Given the description of an element on the screen output the (x, y) to click on. 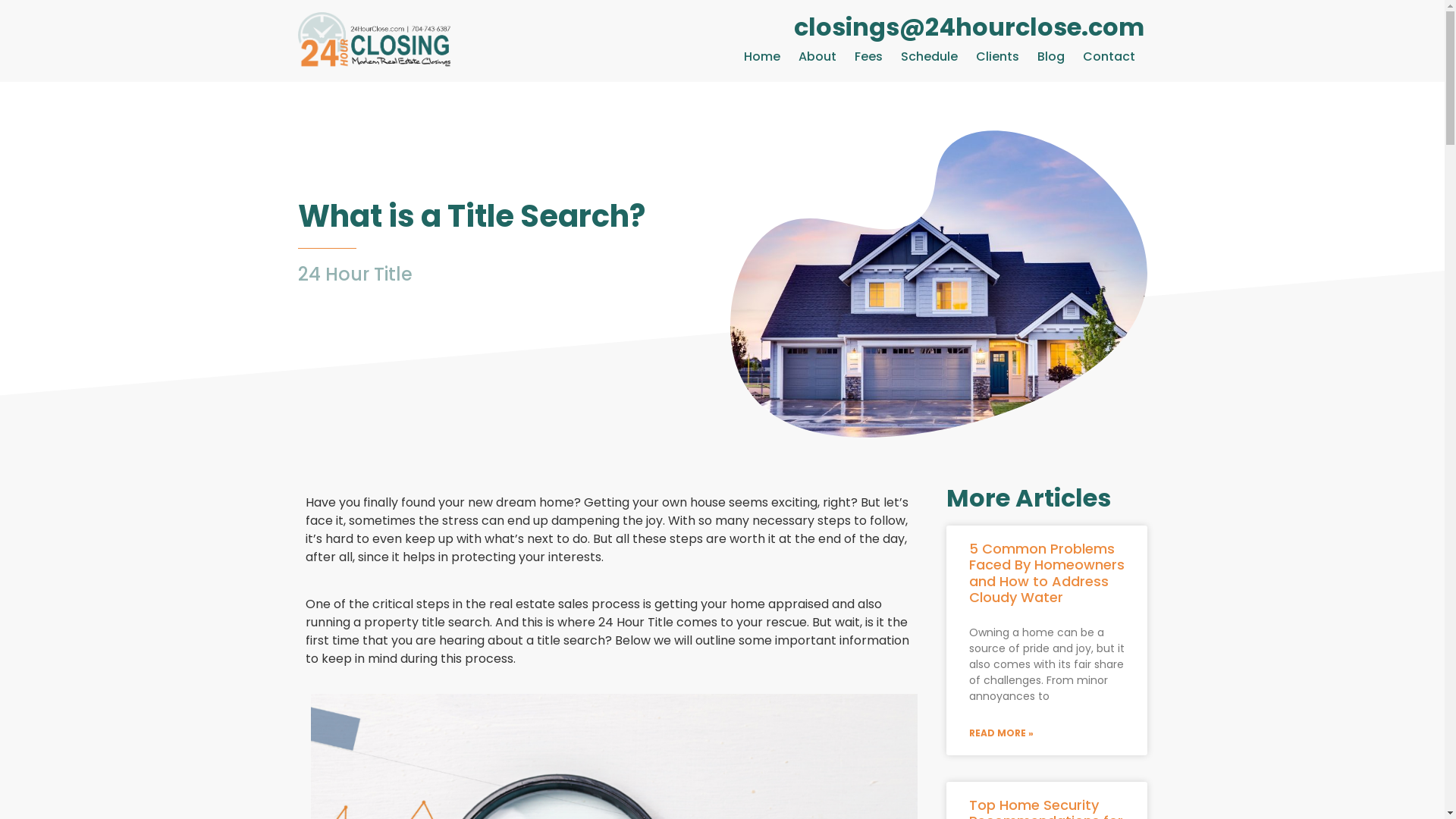
About Element type: text (817, 56)
Contact Element type: text (1108, 56)
Fees Element type: text (868, 56)
Blog Element type: text (1050, 56)
Home Element type: text (761, 56)
Schedule Element type: text (928, 56)
Clients Element type: text (997, 56)
Closing on a house Element type: hover (937, 283)
